Given the description of an element on the screen output the (x, y) to click on. 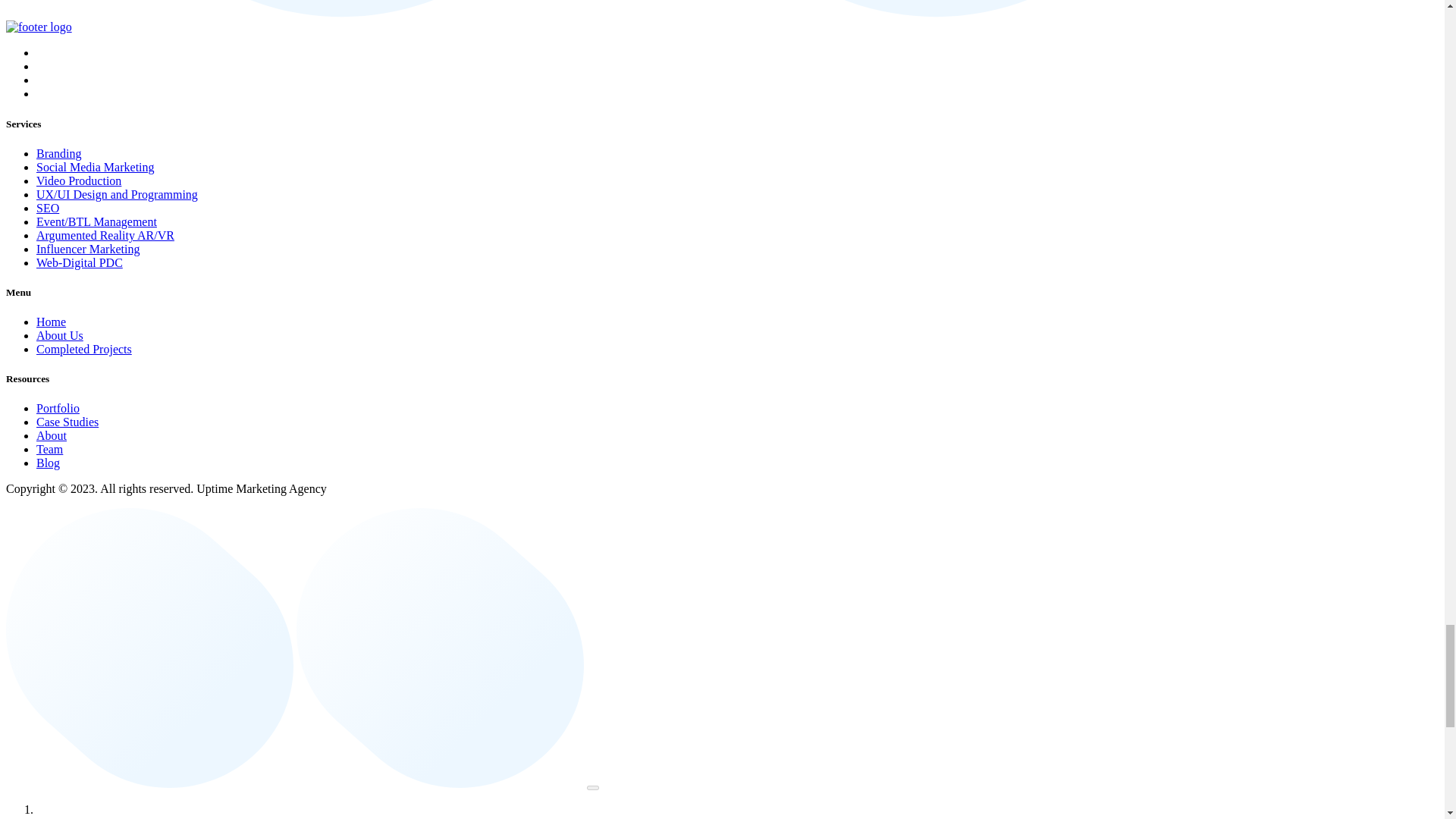
About Us (59, 335)
Home (50, 321)
Portfolio (58, 408)
SEO (47, 207)
Branding (58, 153)
Video Production (78, 180)
Web-Digital PDC (79, 262)
Completed Projects (84, 349)
Social Media Marketing (95, 166)
Influencer Marketing (87, 248)
